Given the description of an element on the screen output the (x, y) to click on. 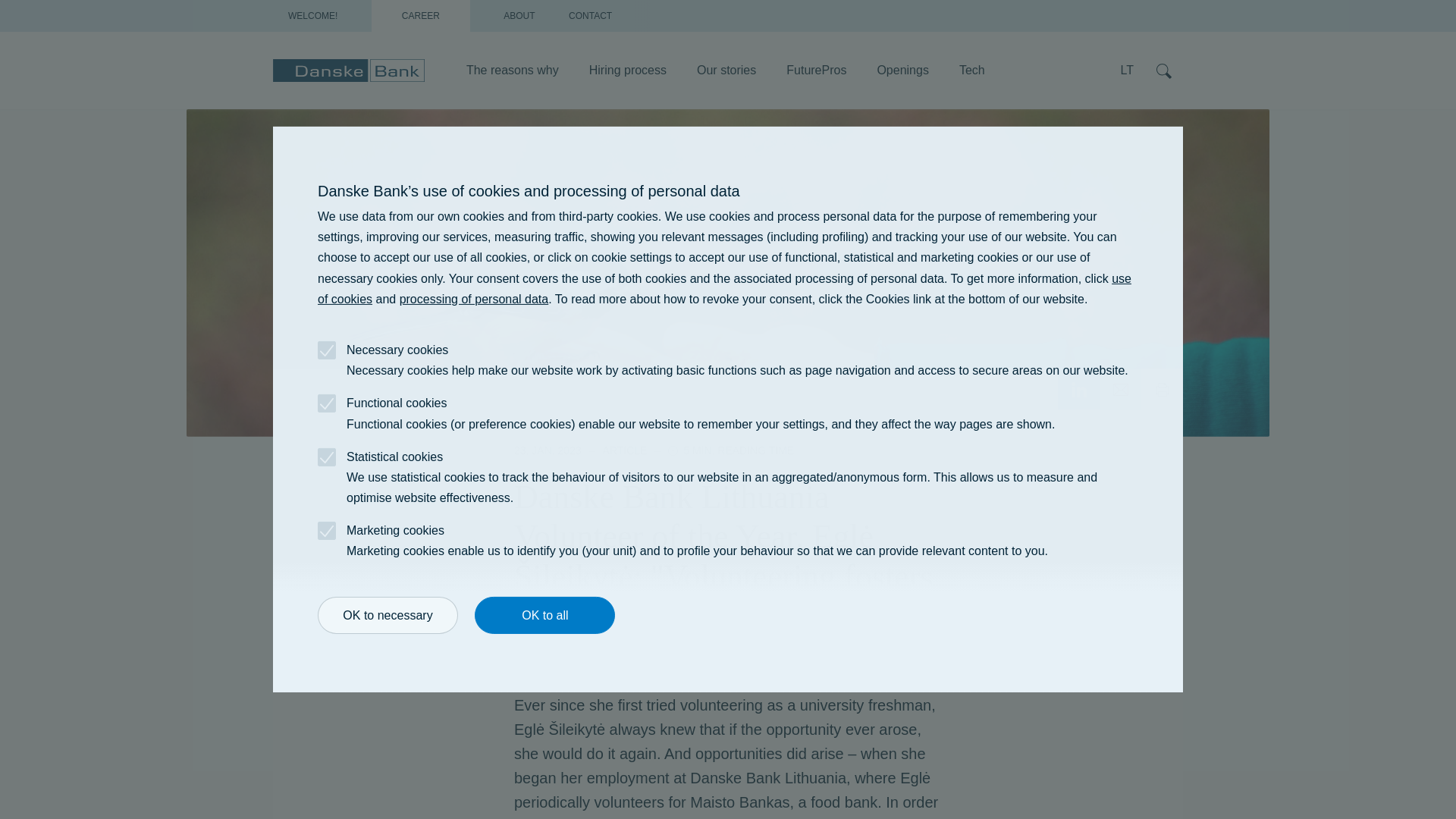
LT (1127, 69)
ABOUT (518, 15)
WELCOME! (312, 15)
Hiring process (627, 66)
Openings (902, 66)
Tech (971, 66)
The reasons why (512, 66)
FuturePros (816, 66)
Our stories (726, 66)
CONTACT (590, 15)
CAREER (420, 15)
